Given the description of an element on the screen output the (x, y) to click on. 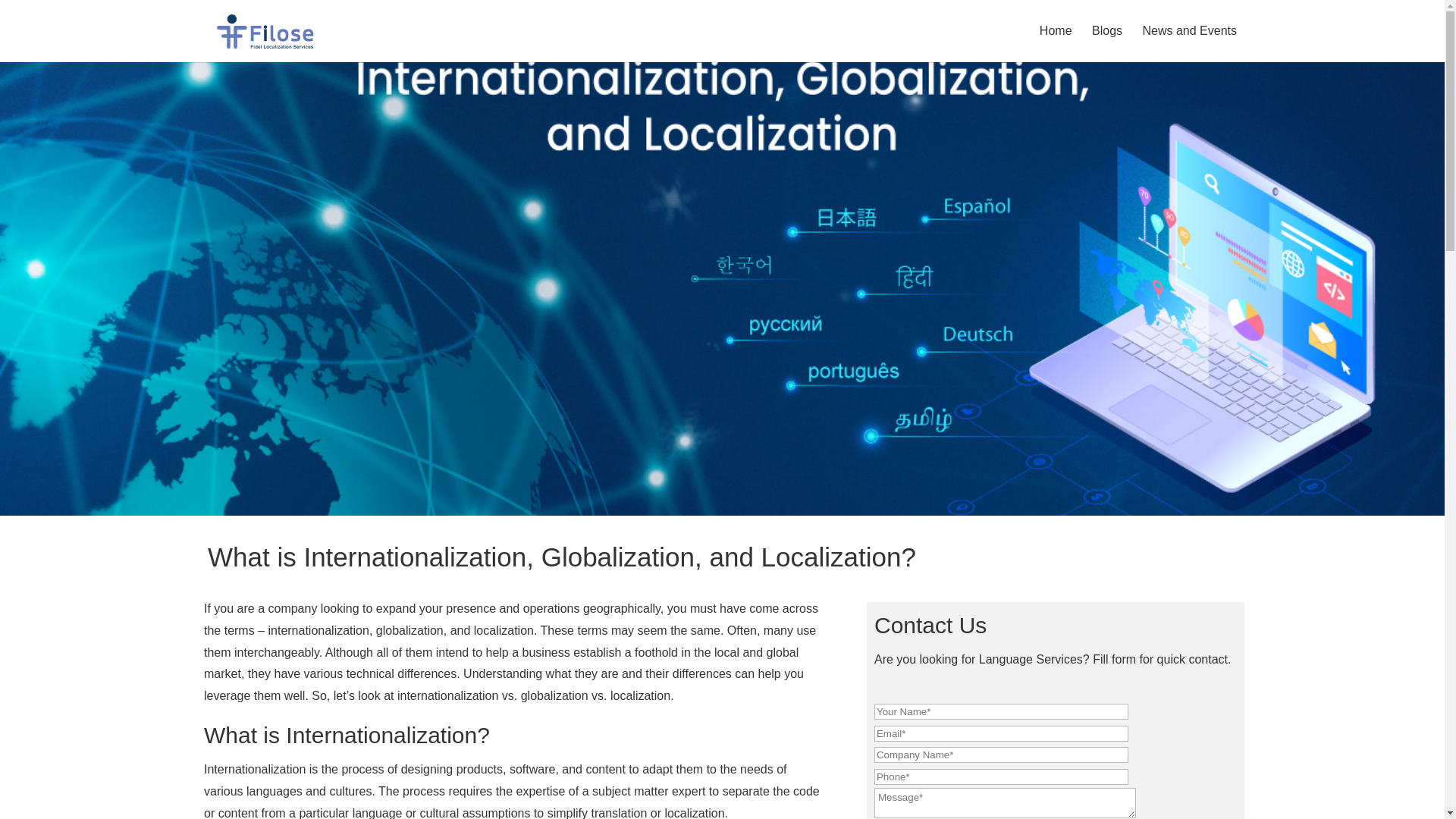
Home (1055, 43)
News and Events (1188, 43)
Blogs (1107, 43)
